Given the description of an element on the screen output the (x, y) to click on. 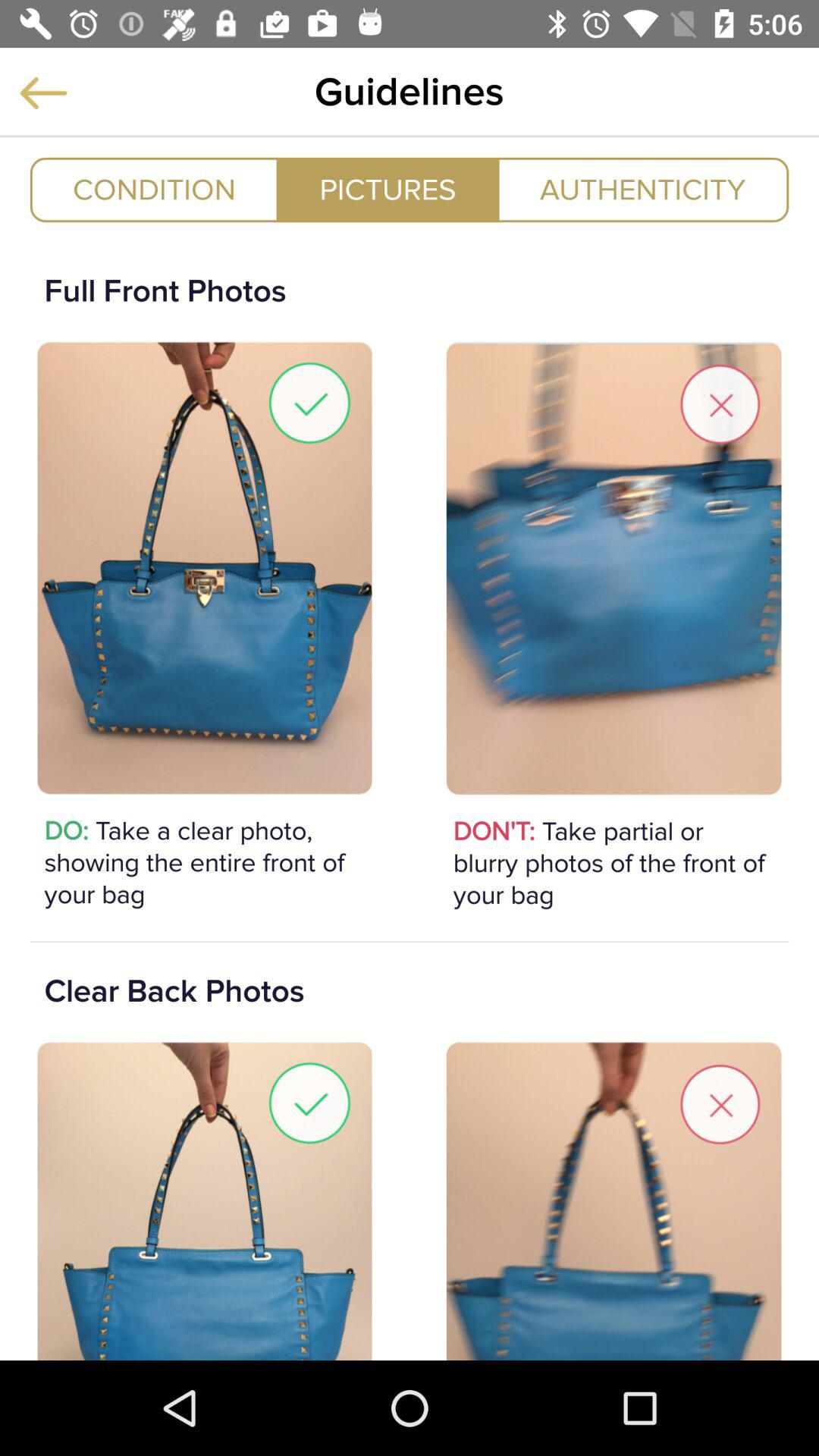
go back (43, 92)
